Given the description of an element on the screen output the (x, y) to click on. 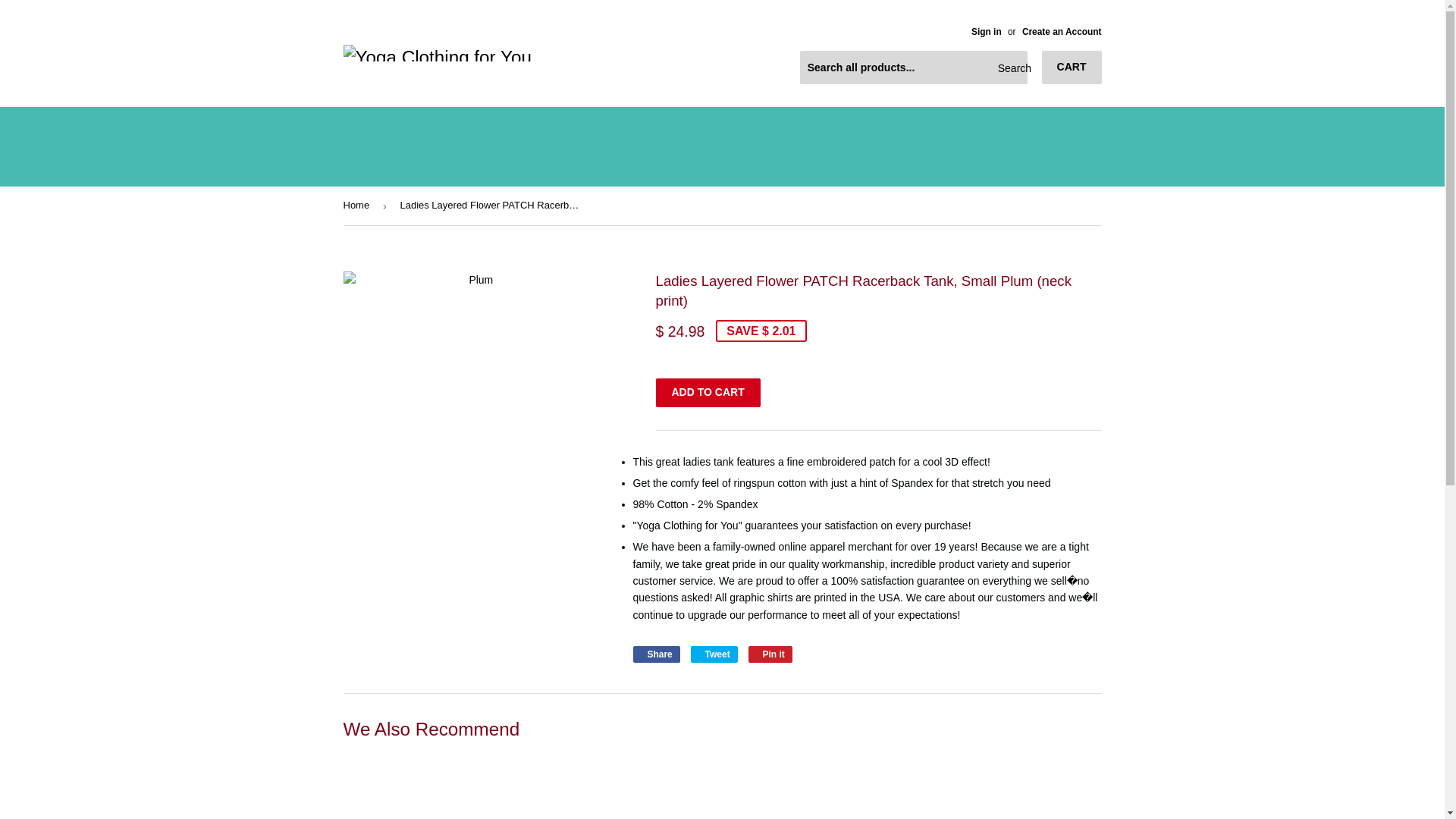
Pin on Pinterest (770, 654)
Tweet on Twitter (714, 654)
Sign in (986, 31)
Search (1009, 68)
Create an Account (1062, 31)
Share on Facebook (655, 654)
CART (1072, 67)
